Given the description of an element on the screen output the (x, y) to click on. 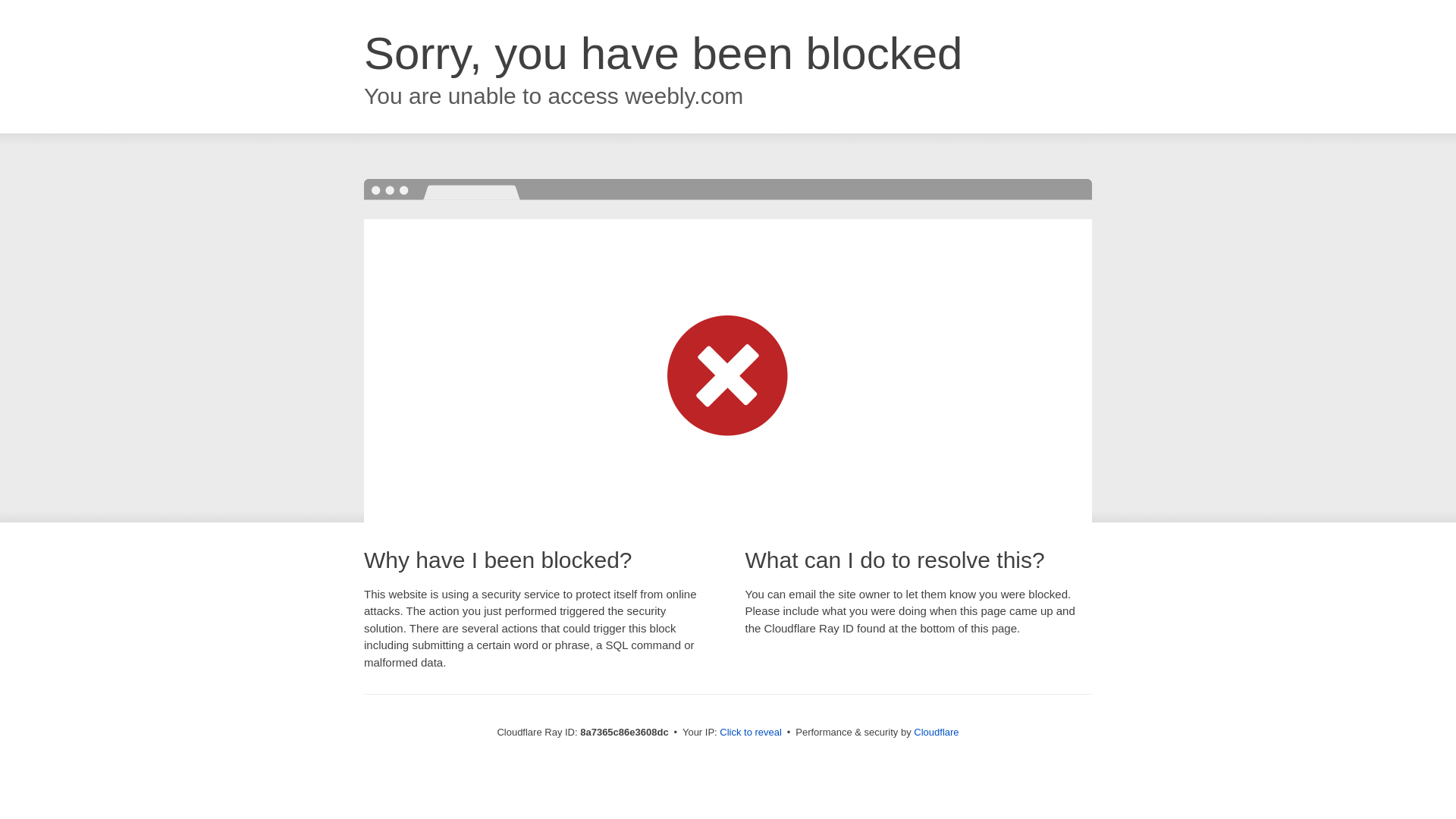
Cloudflare (936, 731)
Click to reveal (750, 732)
